Given the description of an element on the screen output the (x, y) to click on. 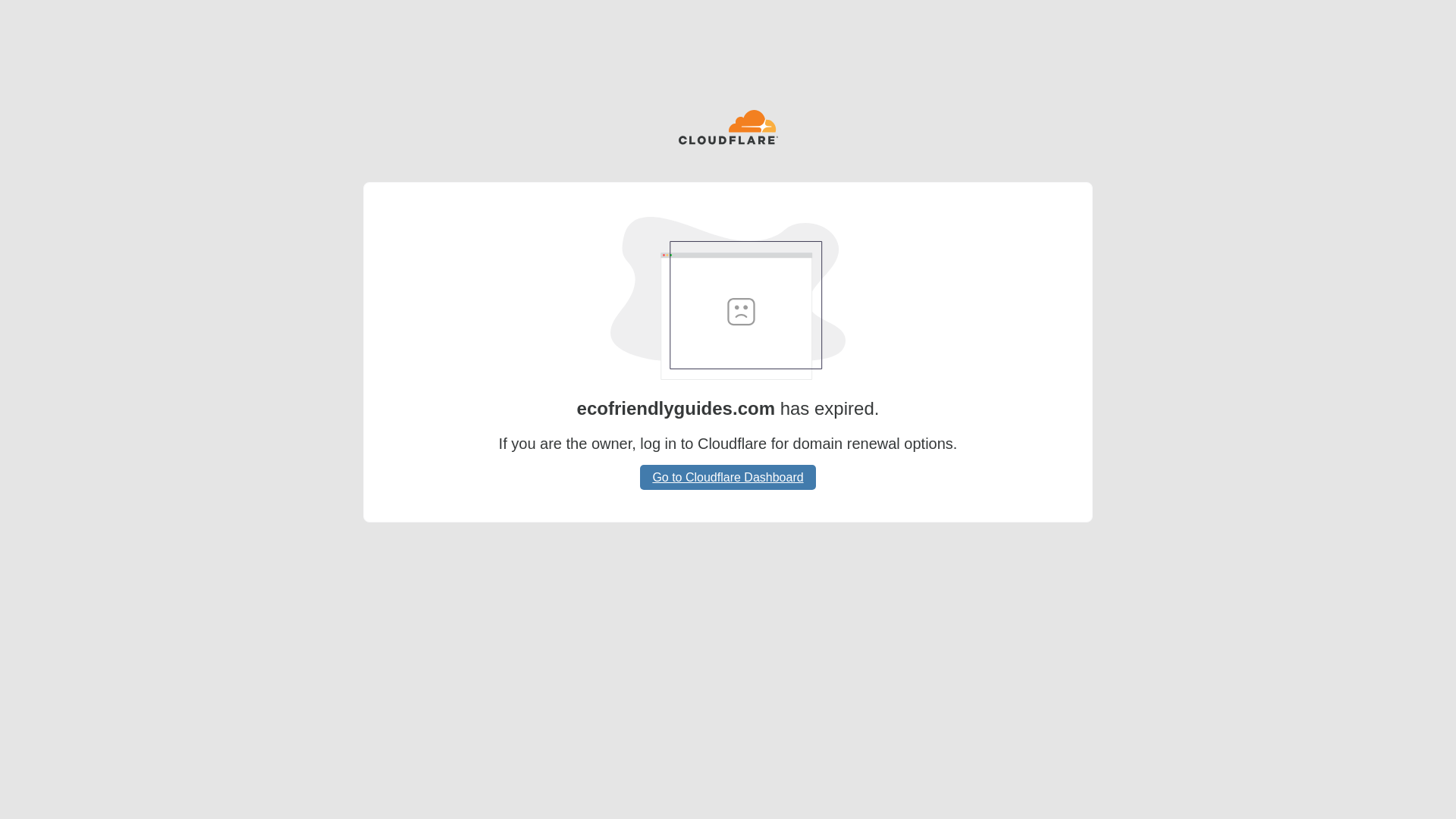
Go to Cloudflare Dashboard (727, 477)
